Given the description of an element on the screen output the (x, y) to click on. 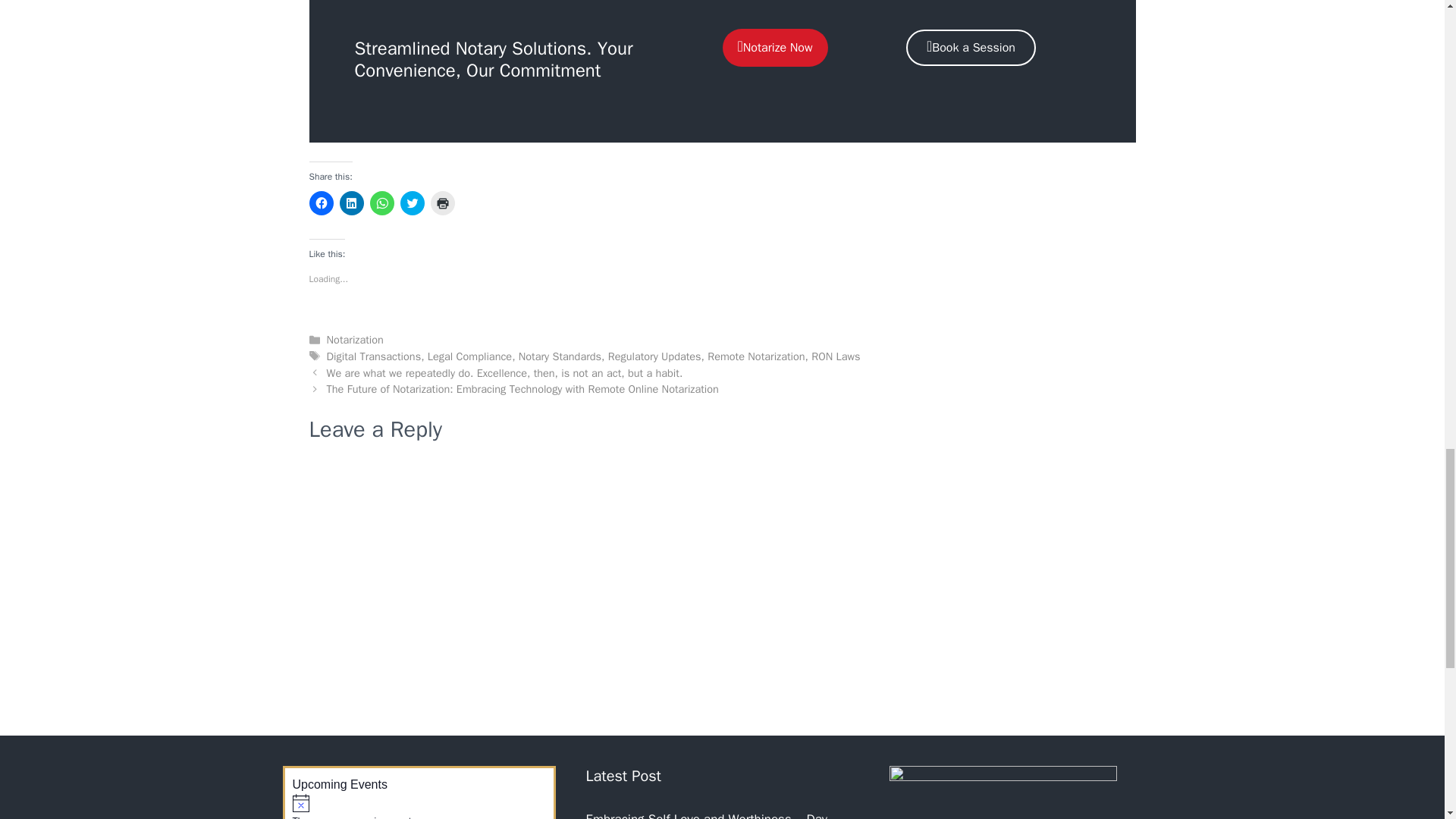
Notarize Now (774, 47)
Click to share on WhatsApp (381, 202)
Book a Session (970, 47)
Click to share on Facebook (320, 202)
Click to print (442, 202)
Click to share on LinkedIn (351, 202)
Click to share on Twitter (412, 202)
